Given the description of an element on the screen output the (x, y) to click on. 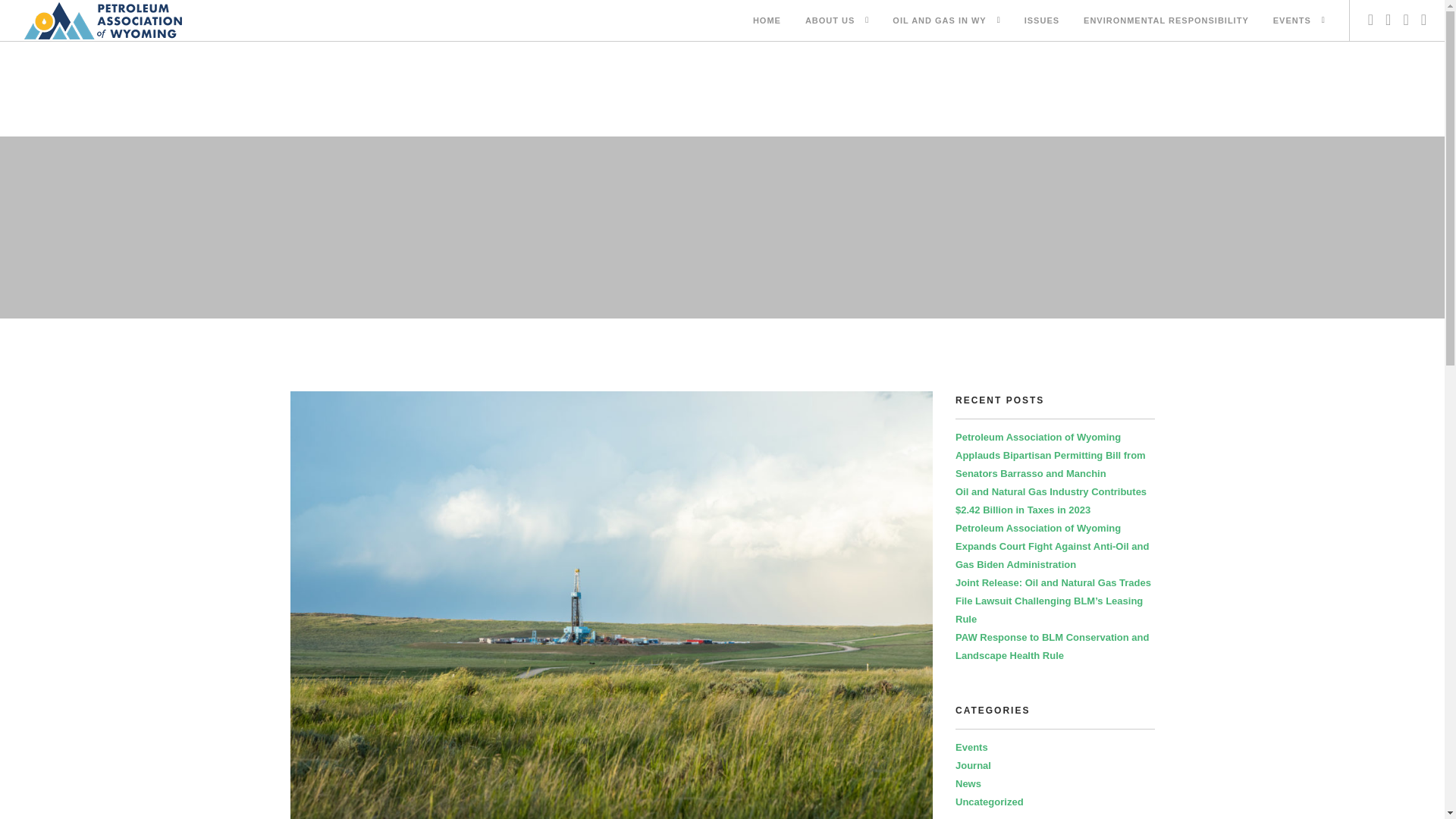
EVENTS (1291, 21)
News (968, 783)
PAW Response to BLM Conservation and Landscape Health Rule (1051, 645)
ENVIRONMENTAL RESPONSIBILITY (1166, 21)
Uncategorized (989, 801)
Journal (973, 765)
ABOUT US (829, 21)
Events (971, 747)
OIL AND GAS IN WY (938, 21)
